Given the description of an element on the screen output the (x, y) to click on. 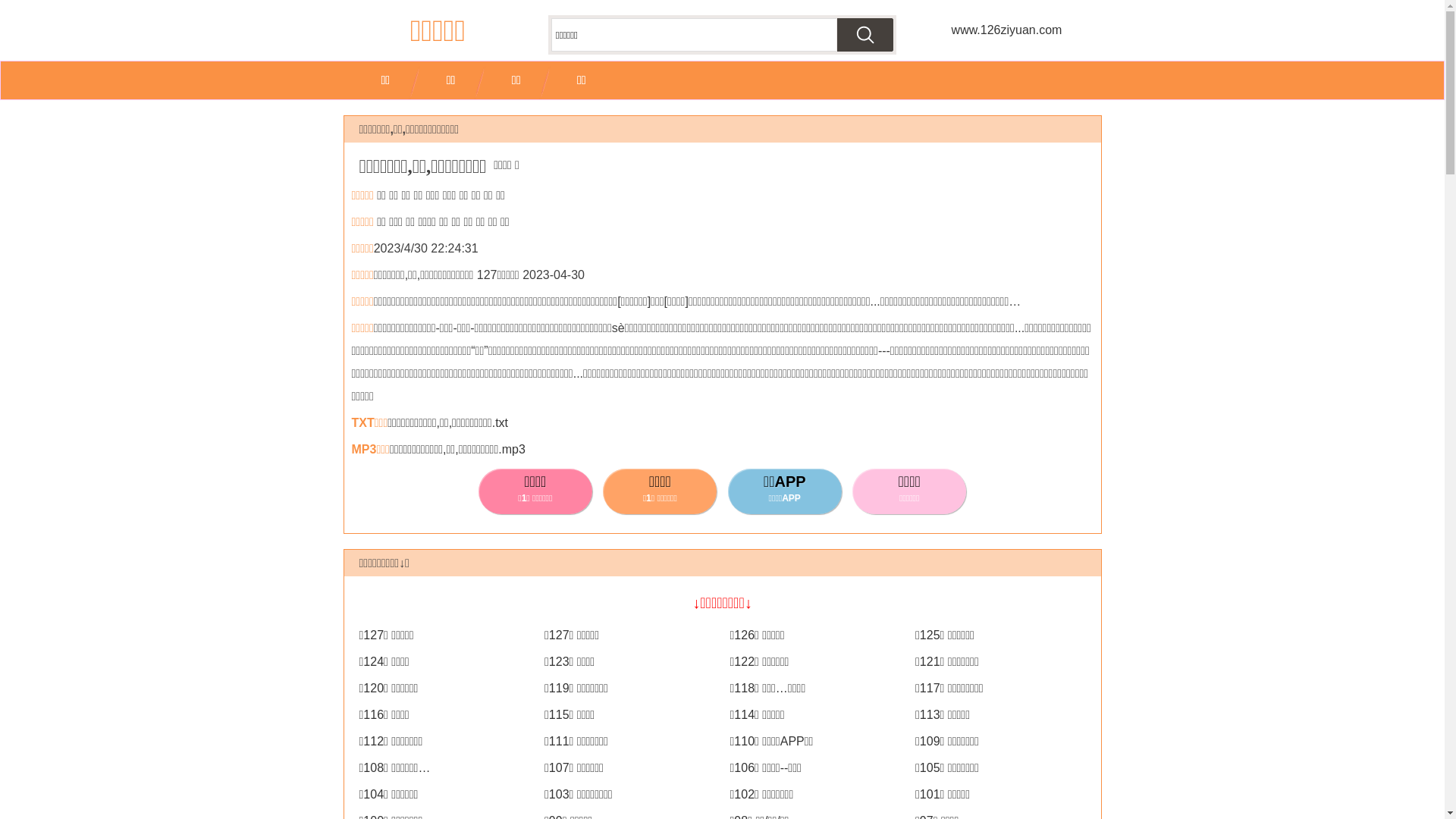
www.126ziyuan.com Element type: text (1006, 30)
